Given the description of an element on the screen output the (x, y) to click on. 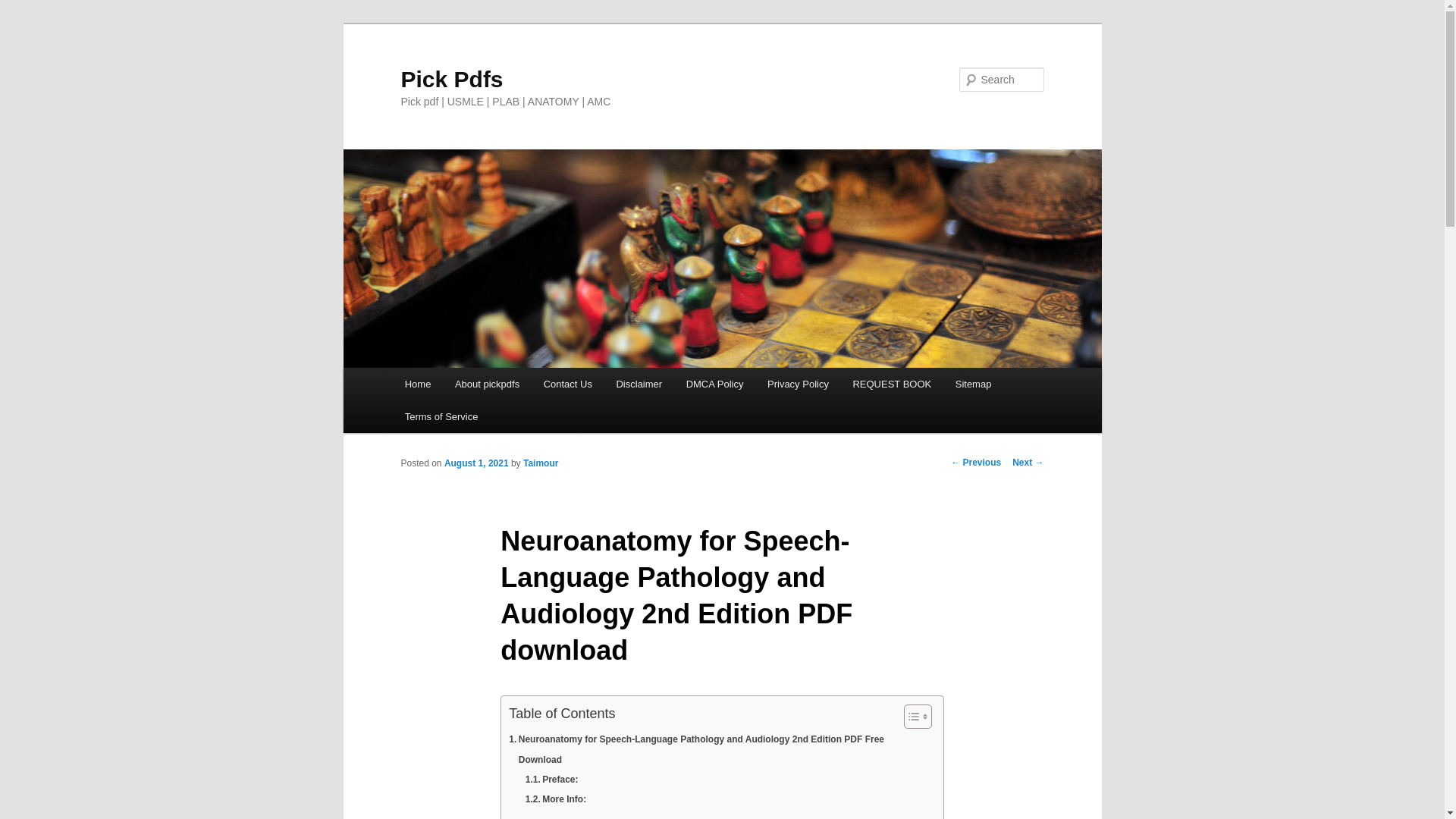
More Info: (555, 799)
REQUEST BOOK (892, 383)
Taimour (539, 462)
Preface: (551, 779)
More Info: (555, 799)
Search (24, 8)
Preface: (551, 779)
Disclaimer (639, 383)
Terms of Service (441, 416)
August 1, 2021 (476, 462)
View all posts by Taimour (539, 462)
Privacy Policy (797, 383)
Sitemap (973, 383)
Home (417, 383)
